Given the description of an element on the screen output the (x, y) to click on. 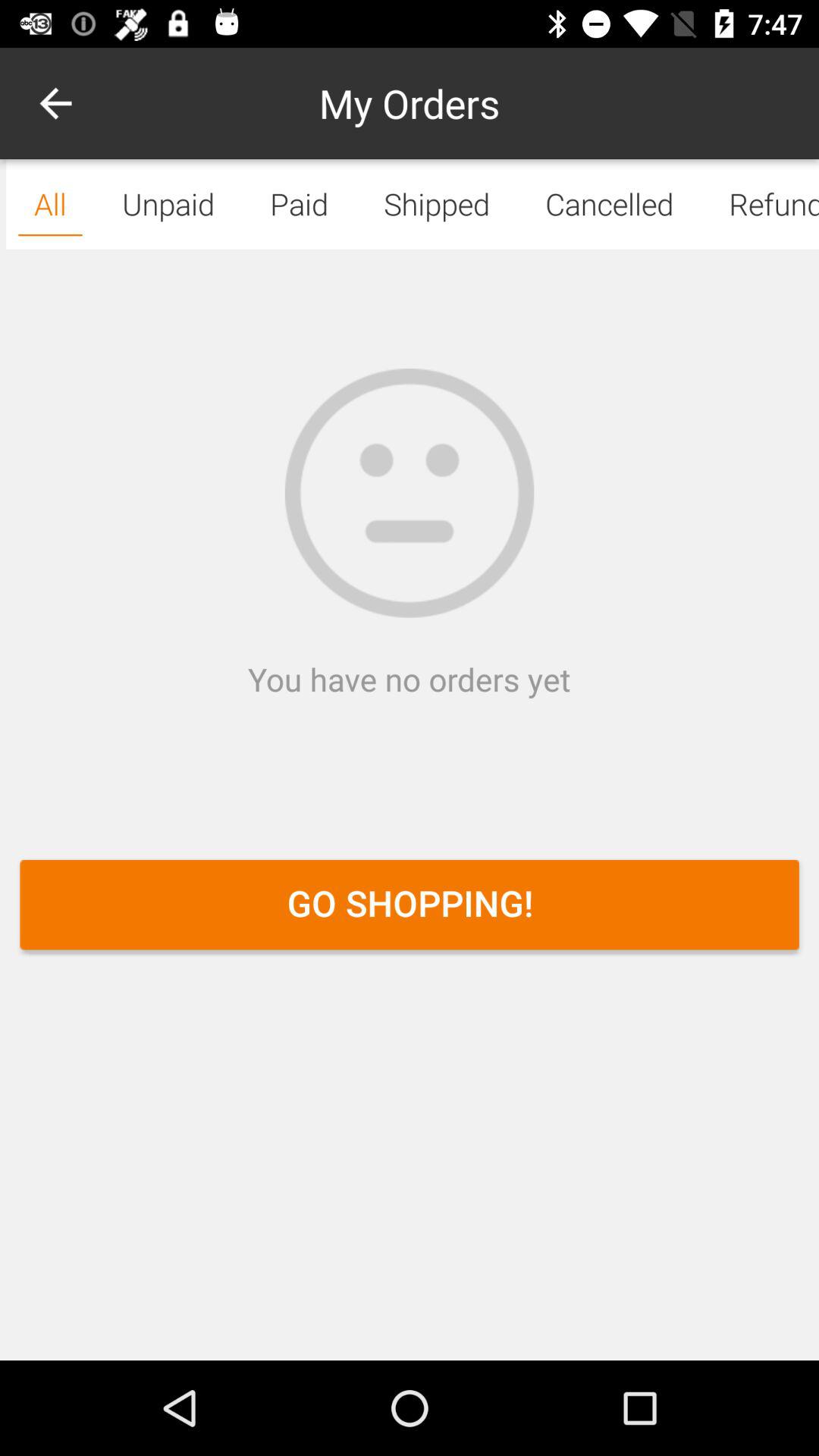
open icon to the left of the paid item (55, 103)
